Given the description of an element on the screen output the (x, y) to click on. 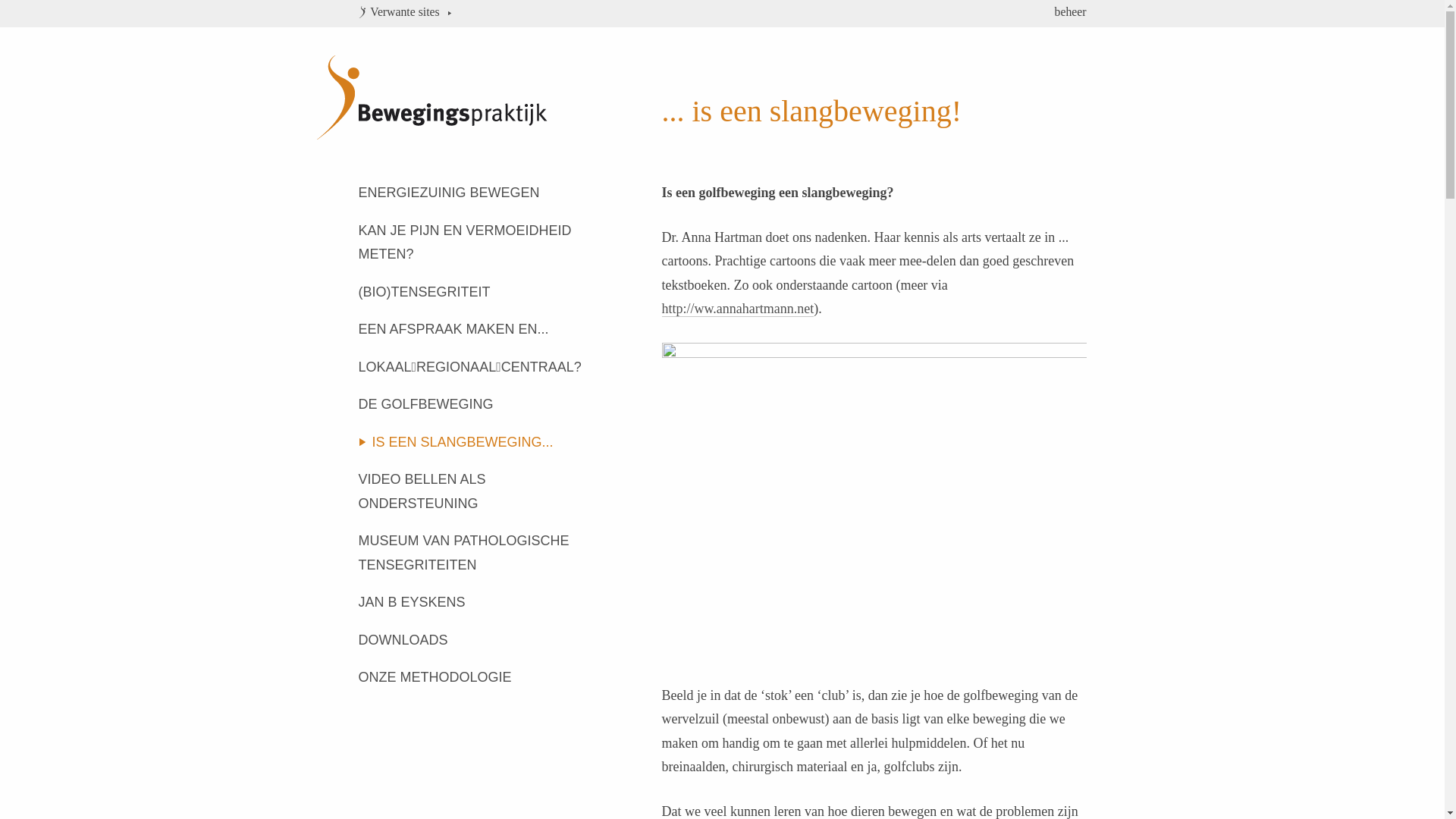
ENERGIEZUINIG BEWEGEN Element type: text (472, 193)
DE GOLFBEWEGING Element type: text (472, 404)
Bewegingspraktijk Element type: hover (448, 117)
IS EEN SLANGBEWEGING... Element type: text (478, 442)
http://ww.annahartmann.net Element type: text (737, 308)
DOWNLOADS Element type: text (472, 639)
EEN AFSPRAAK MAKEN EN... Element type: text (472, 329)
KAN JE PIJN EN VERMOEIDHEID METEN? Element type: text (472, 242)
MUSEUM VAN PATHOLOGISCHE TENSEGRITEITEN Element type: text (472, 553)
(BIO)TENSEGRITEIT Element type: text (472, 292)
ONZE METHODOLOGIE Element type: text (472, 677)
VIDEO BELLEN ALS ONDERSTEUNING Element type: text (472, 491)
JAN B EYSKENS Element type: text (472, 602)
Overslaan en naar de inhoud gaan Element type: text (92, 0)
